Given the description of an element on the screen output the (x, y) to click on. 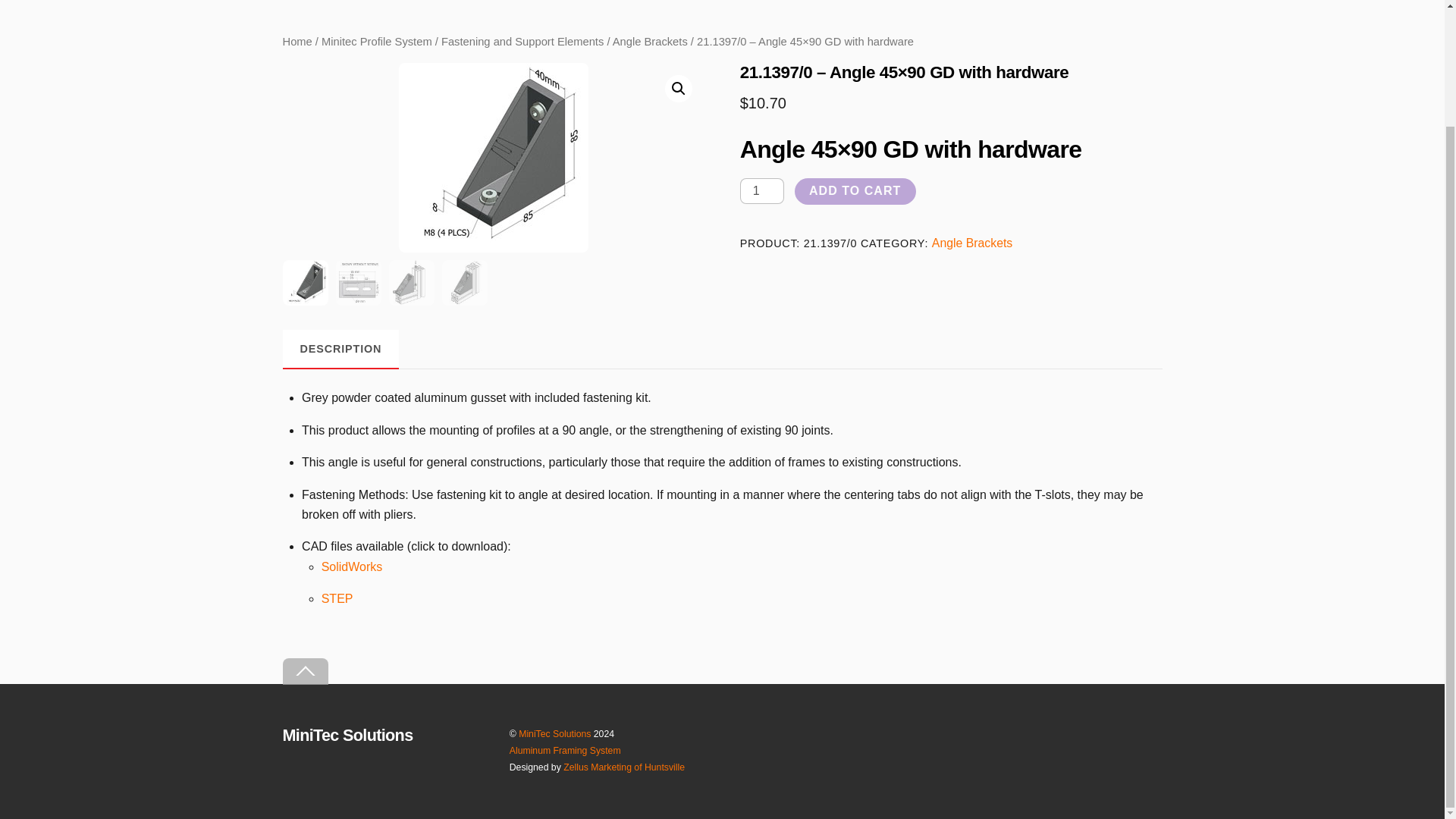
MiniTec Solutions (347, 734)
1 (761, 190)
